Given the description of an element on the screen output the (x, y) to click on. 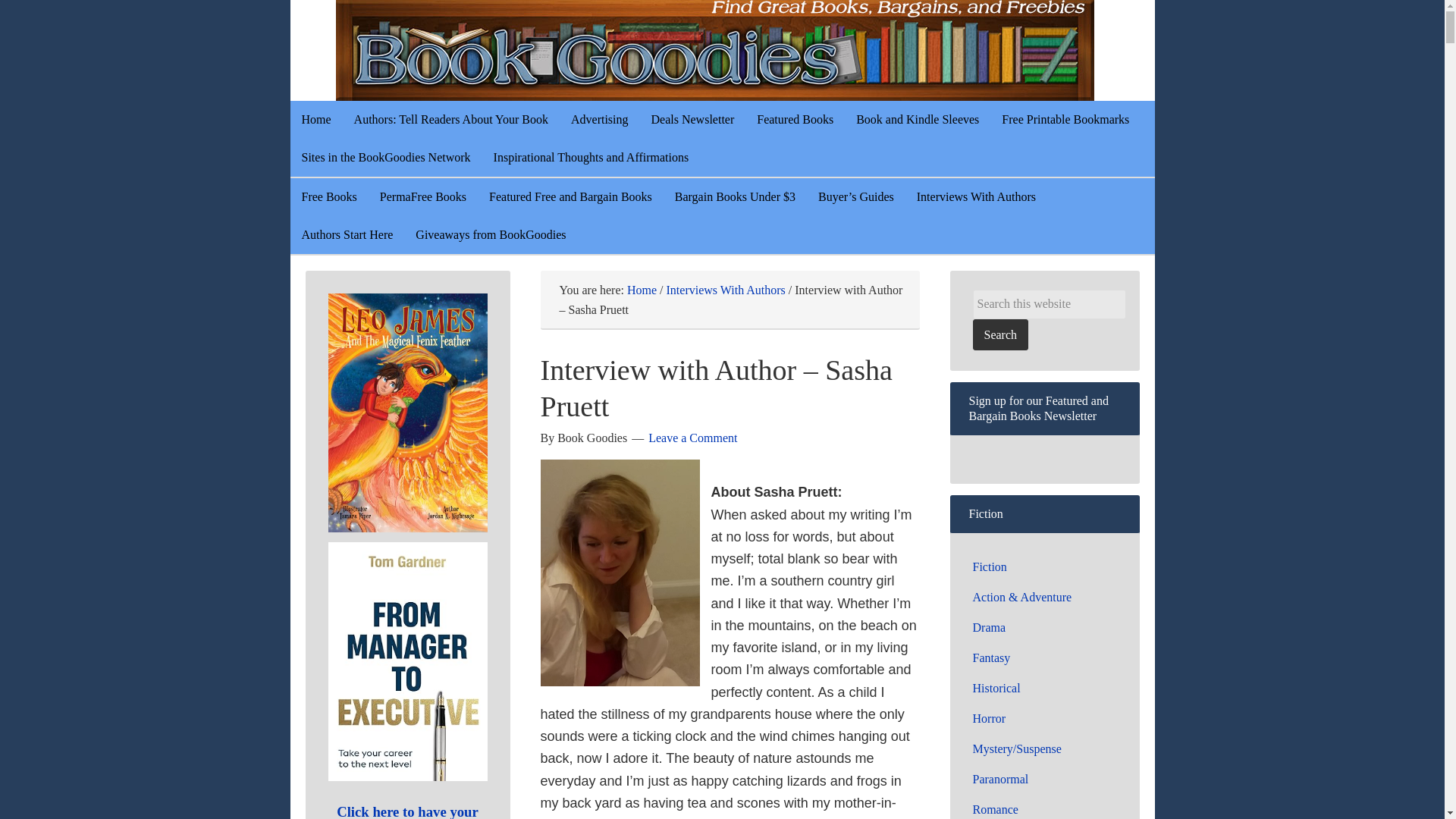
Deals Newsletter (692, 119)
Search (999, 334)
Free Printable Bookmarks (1065, 119)
Interviews With Authors (726, 289)
Book Goodies (751, 50)
Featured Books (794, 119)
Inspirational Thoughts and Affirmations (590, 157)
Home (641, 289)
Giveaways from BookGoodies (490, 234)
Interviews With Authors (975, 197)
Authors: Tell Readers About Your Book (450, 119)
Authors Start Here (346, 234)
PermaFree Books (422, 197)
Search (999, 334)
Book and Kindle Sleeves (917, 119)
